Given the description of an element on the screen output the (x, y) to click on. 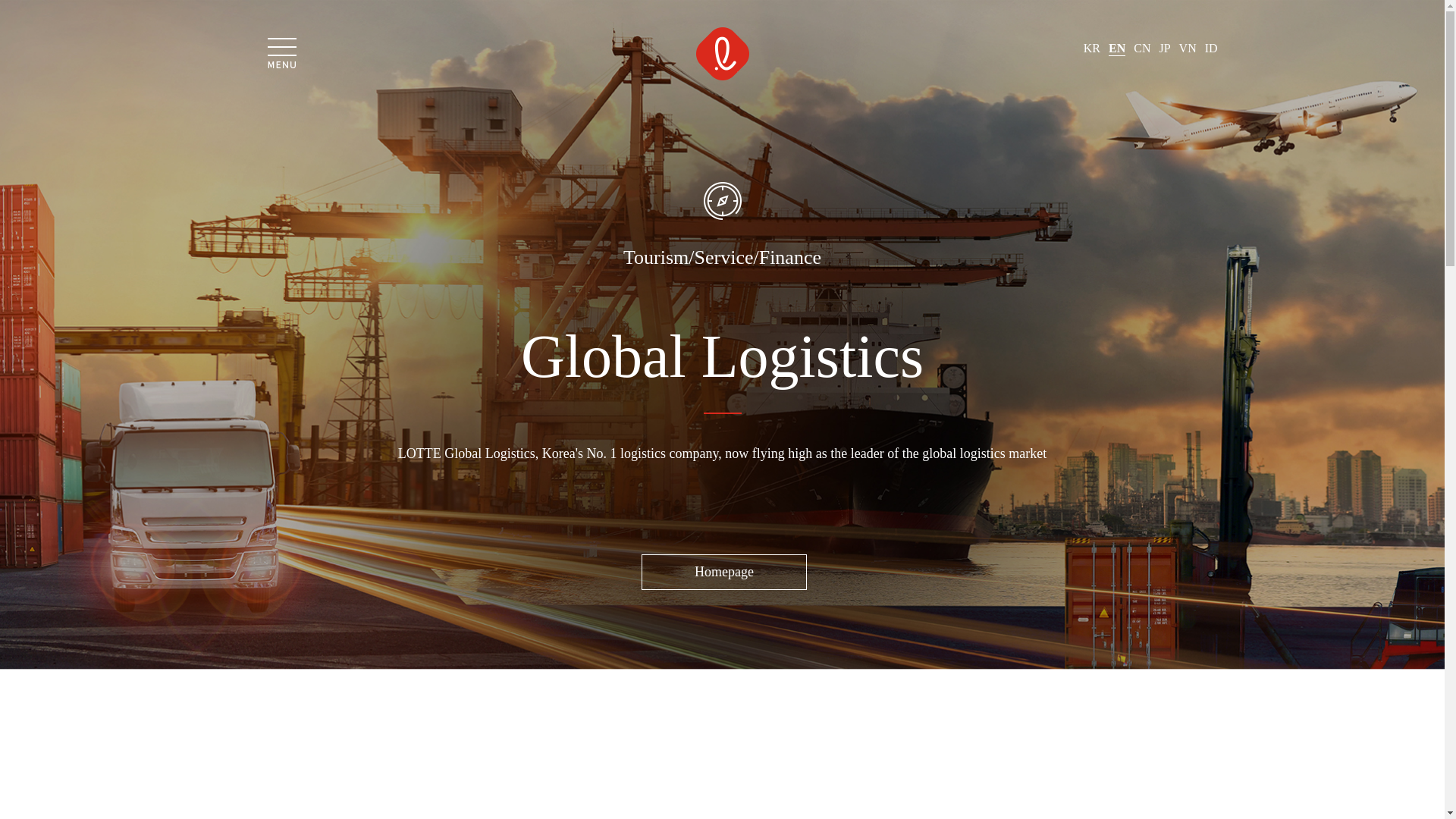
ID (1211, 48)
CN (1142, 48)
VN (1187, 48)
KR (1091, 48)
EN (1116, 48)
